Given the description of an element on the screen output the (x, y) to click on. 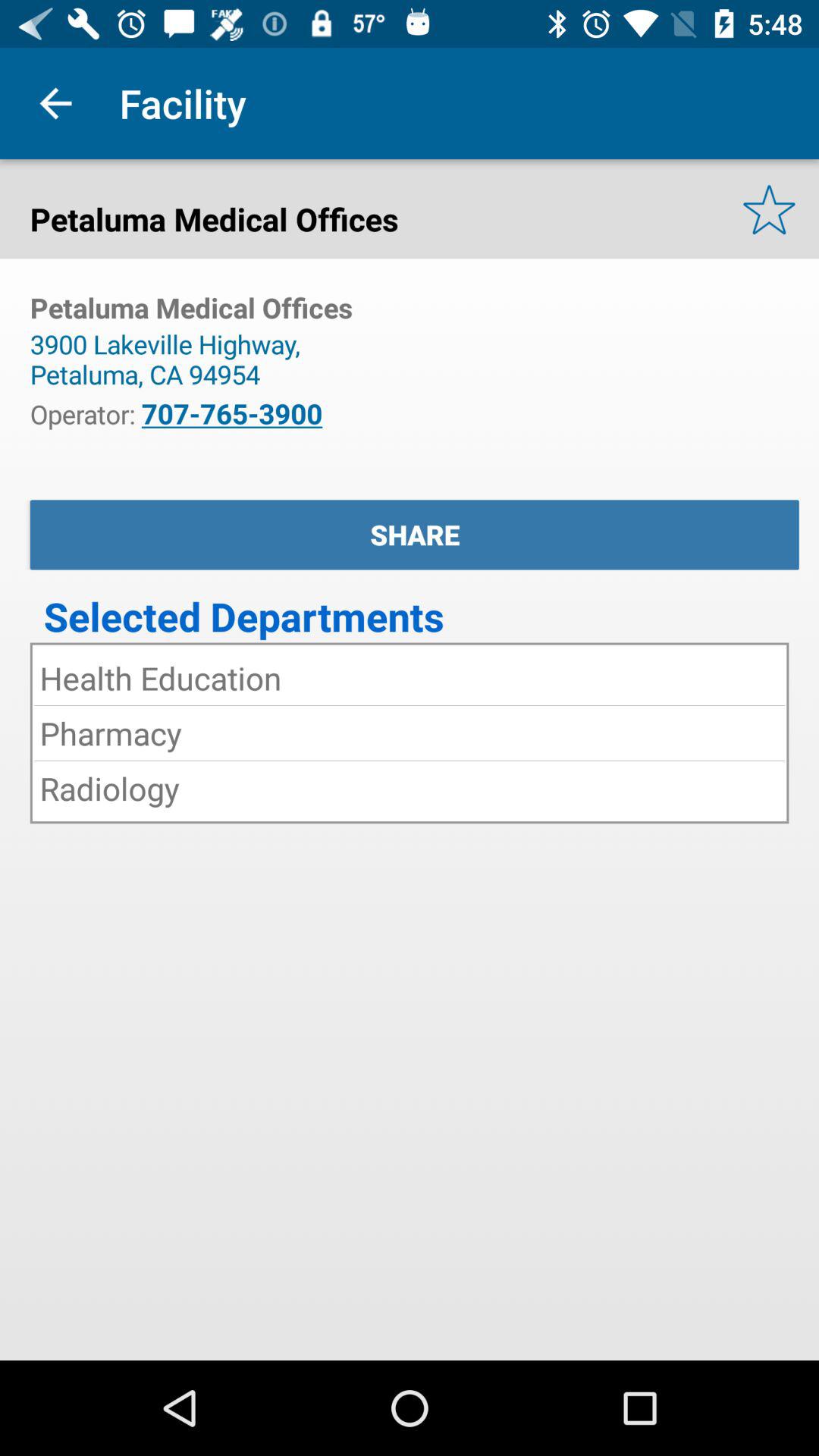
turn off the app below 3900 lakeville highway item (231, 413)
